Given the description of an element on the screen output the (x, y) to click on. 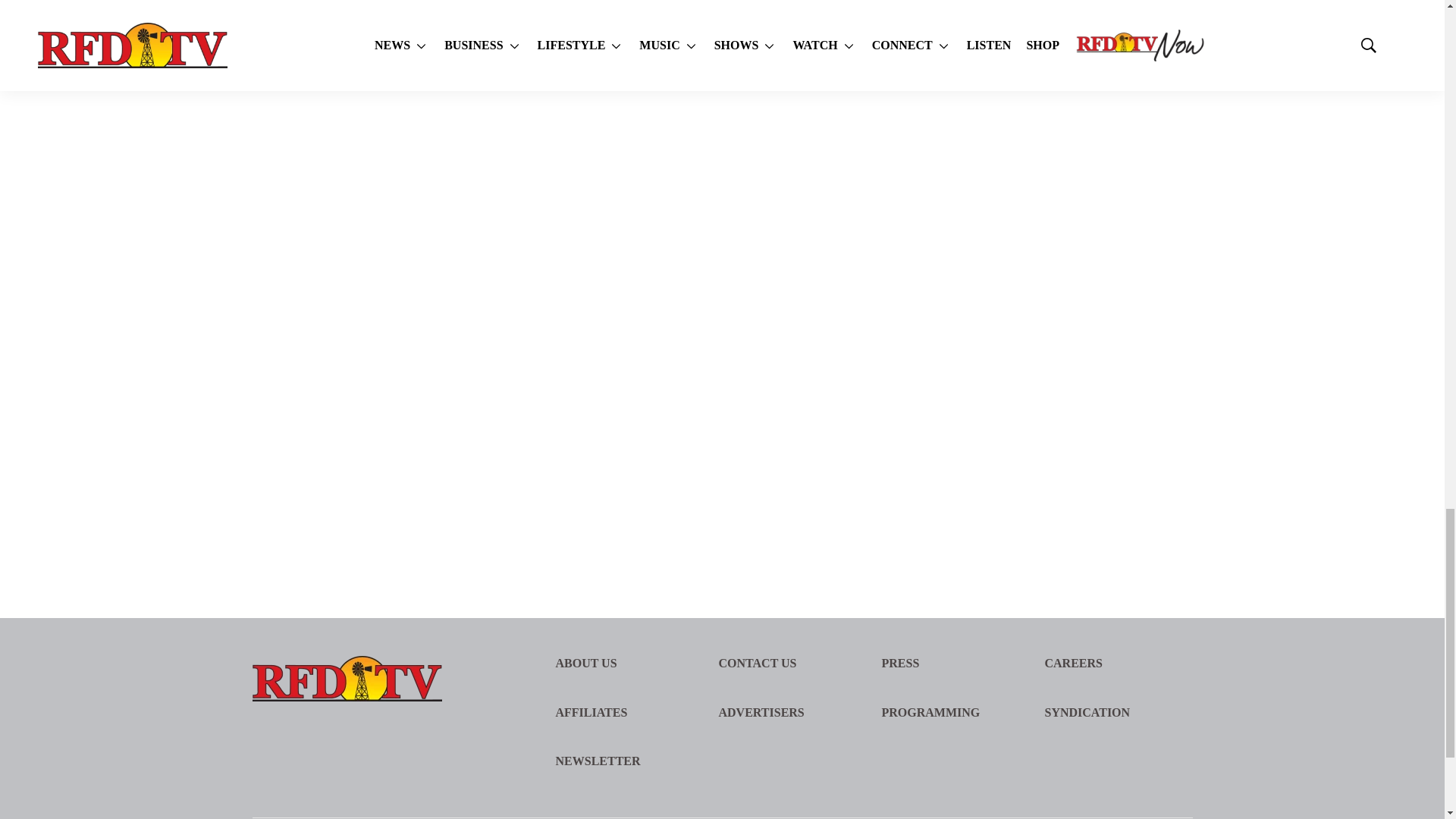
Signup Widget Embed (1070, 255)
